Given the description of an element on the screen output the (x, y) to click on. 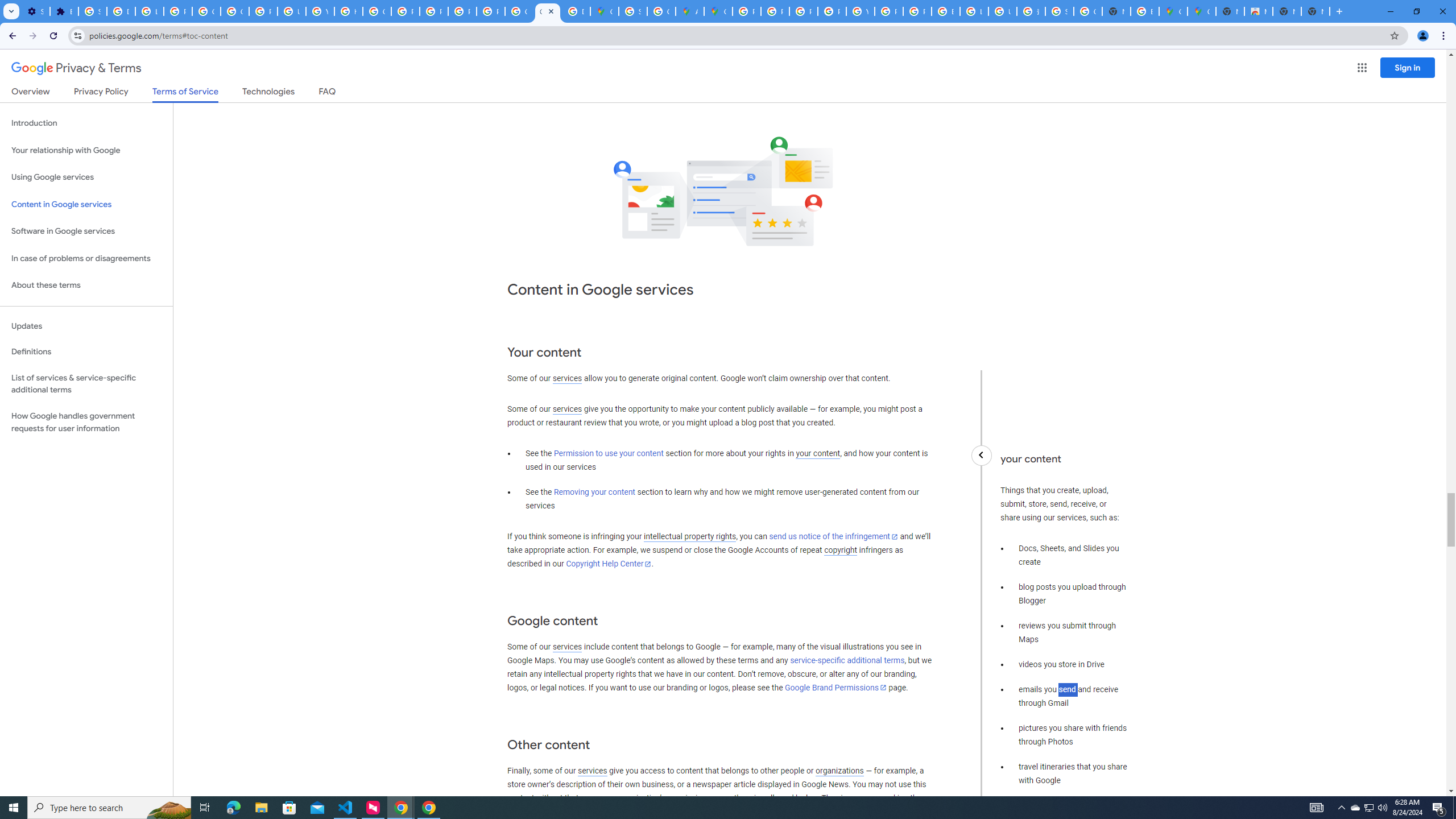
Content in Google services (86, 204)
Create your Google Account (661, 11)
Copyright Help Center (609, 564)
Permission to use your content (608, 453)
https://scholar.google.com/ (348, 11)
Google Maps (718, 11)
send us notice of the infringement (833, 536)
New Tab (1315, 11)
Sign in (1407, 67)
Privacy Help Center - Policies Help (803, 11)
Explore new street-level details - Google Maps Help (1144, 11)
